Given the description of an element on the screen output the (x, y) to click on. 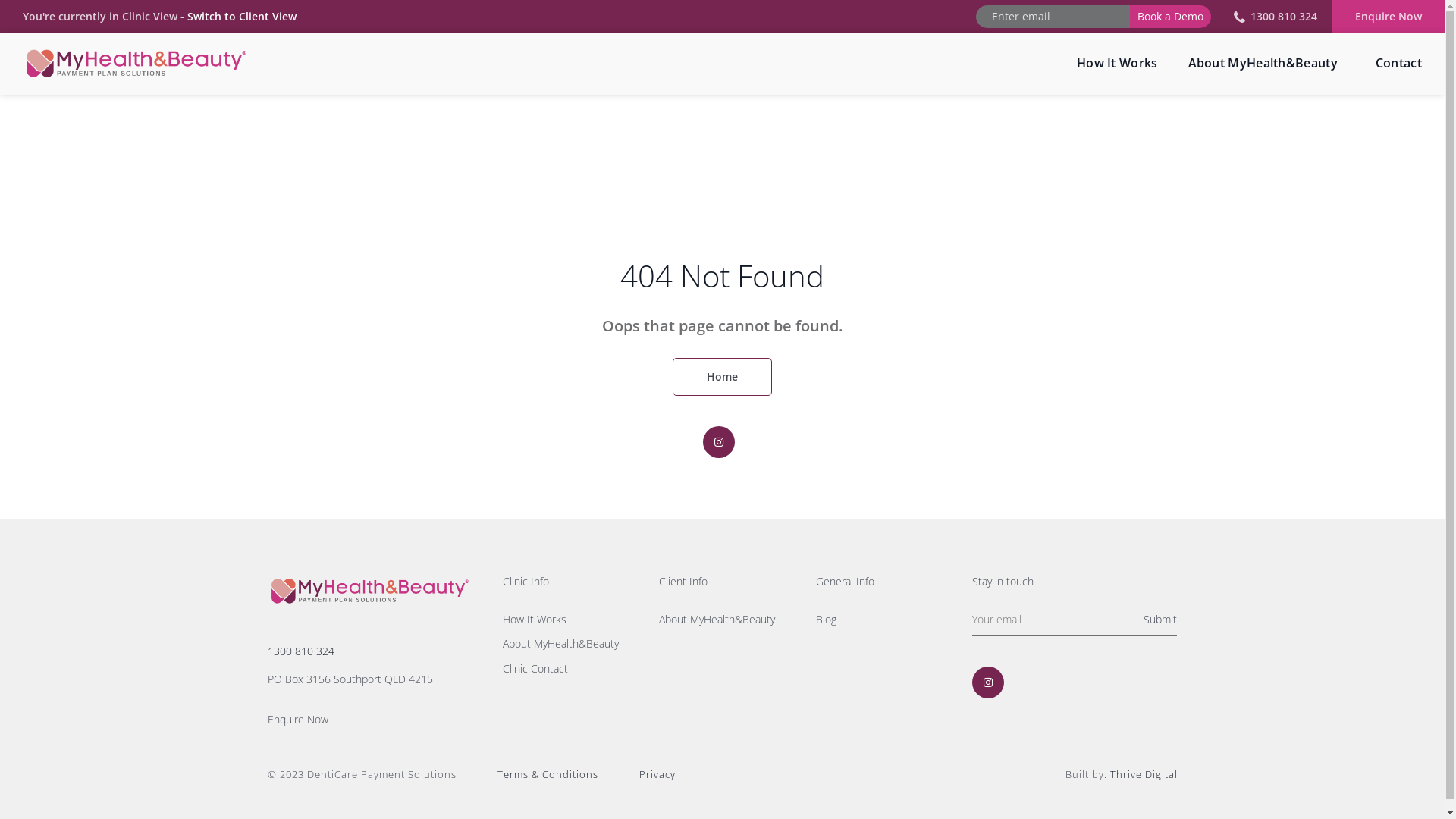
1300 810 324 Element type: text (1275, 16)
Enquire Now Element type: text (368, 719)
Contact Element type: text (1386, 63)
Privacy Element type: text (637, 774)
Switch to Client View Element type: text (241, 16)
Terms & Conditions Element type: text (528, 774)
Clinic Contact Element type: text (565, 668)
Enquire Now Element type: text (1388, 16)
Thrive Digital Element type: text (1143, 774)
How It Works Element type: text (1117, 63)
How It Works Element type: text (565, 619)
Submit Element type: text (1159, 619)
Home Element type: text (721, 376)
About MyHealth&Beauty Element type: text (721, 619)
Instagram Element type: hover (718, 442)
Instagram Element type: hover (988, 682)
About MyHealth&Beauty Element type: text (565, 643)
About MyHealth&Beauty Element type: text (1262, 63)
Book a Demo Element type: text (1170, 16)
1300 810 324 Element type: text (368, 651)
Blog Element type: text (878, 619)
